Given the description of an element on the screen output the (x, y) to click on. 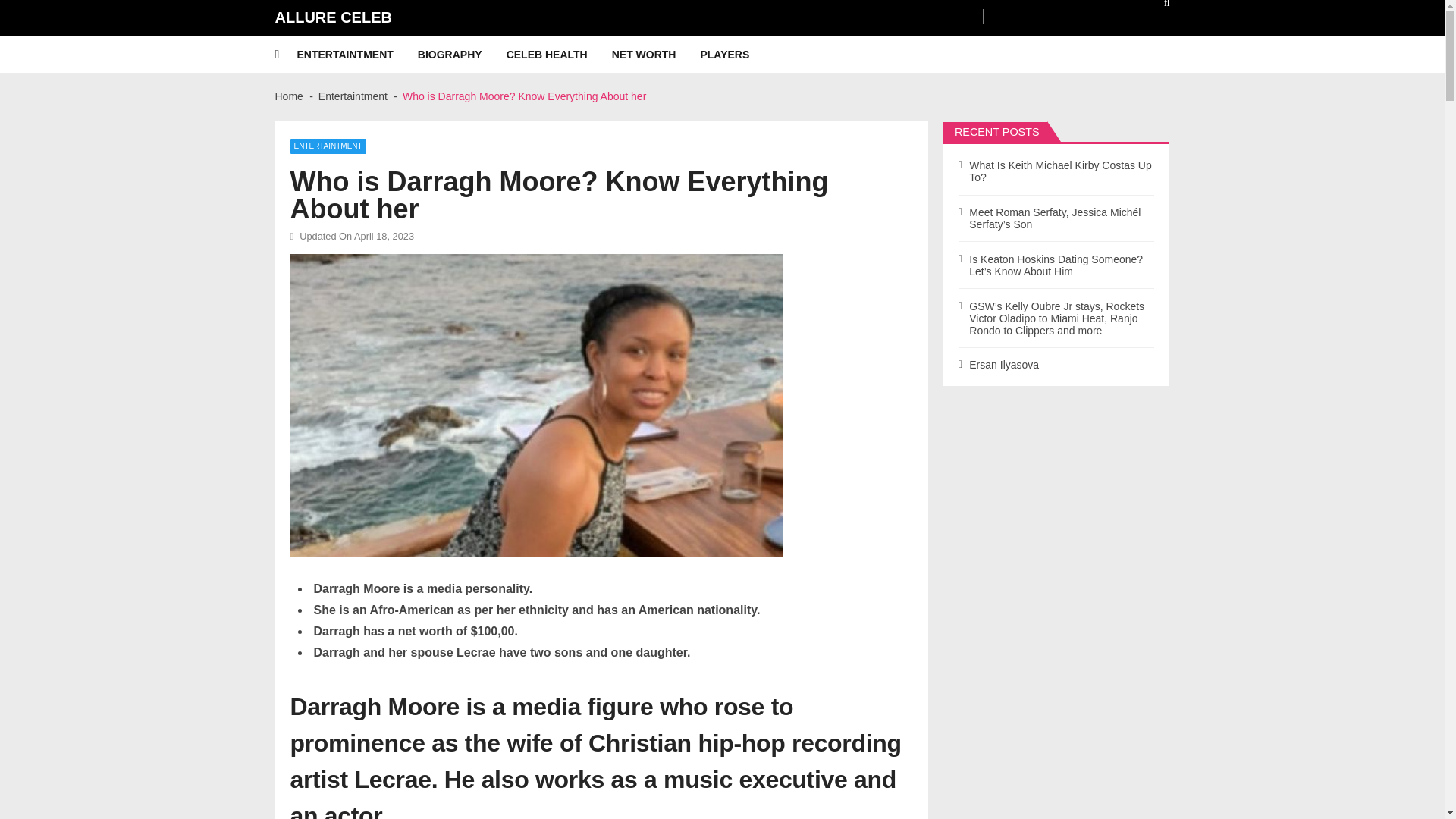
ALLURE CELEB (333, 17)
Search (1156, 7)
BIOGRAPHY (461, 54)
Home (288, 96)
CELEB HEALTH (558, 54)
Search (1156, 7)
PLAYERS (736, 54)
ENTERTAINTMENT (327, 145)
Entertaintment (352, 96)
NET WORTH (655, 54)
